Given the description of an element on the screen output the (x, y) to click on. 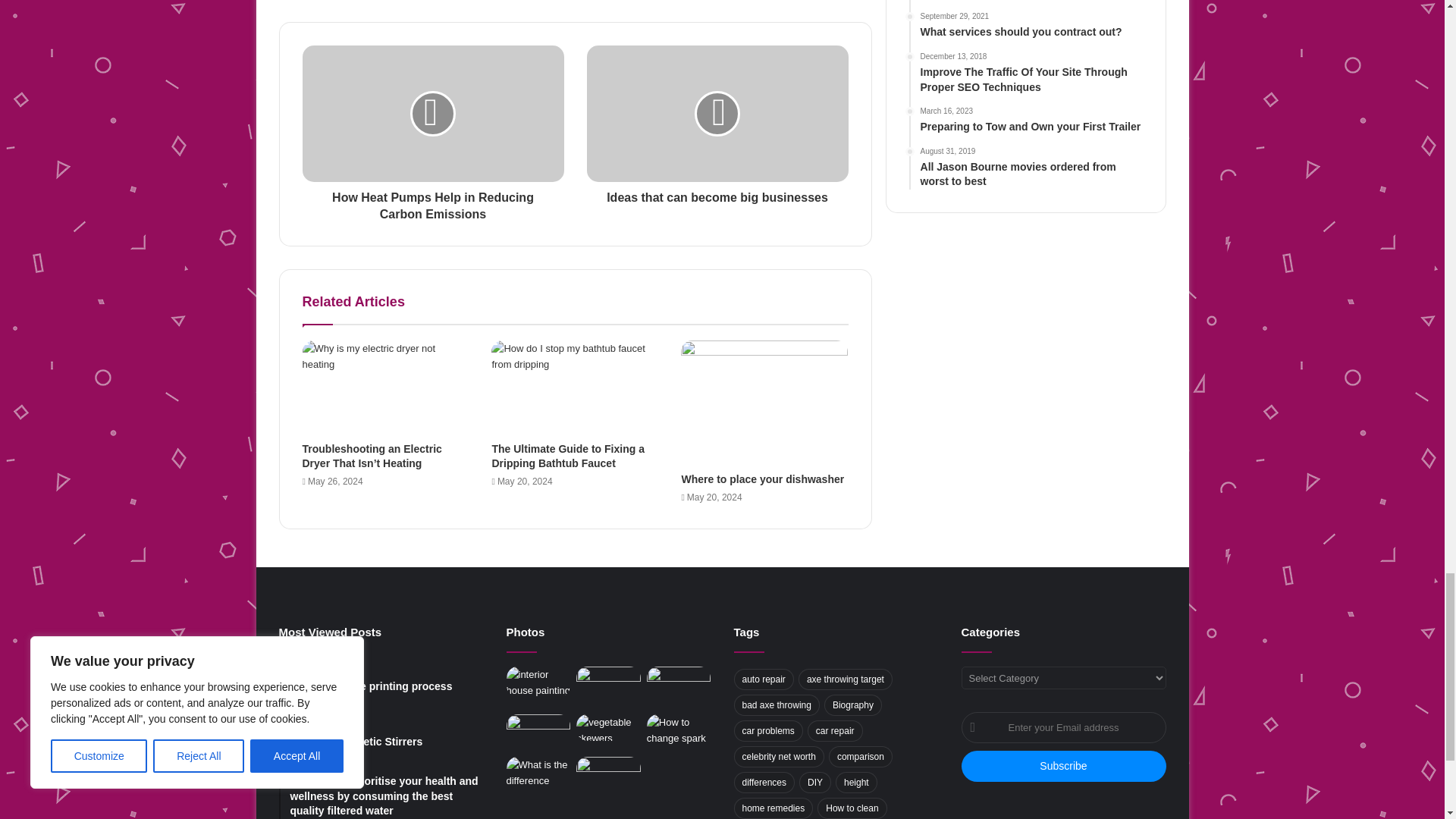
Subscribe (1063, 766)
